Given the description of an element on the screen output the (x, y) to click on. 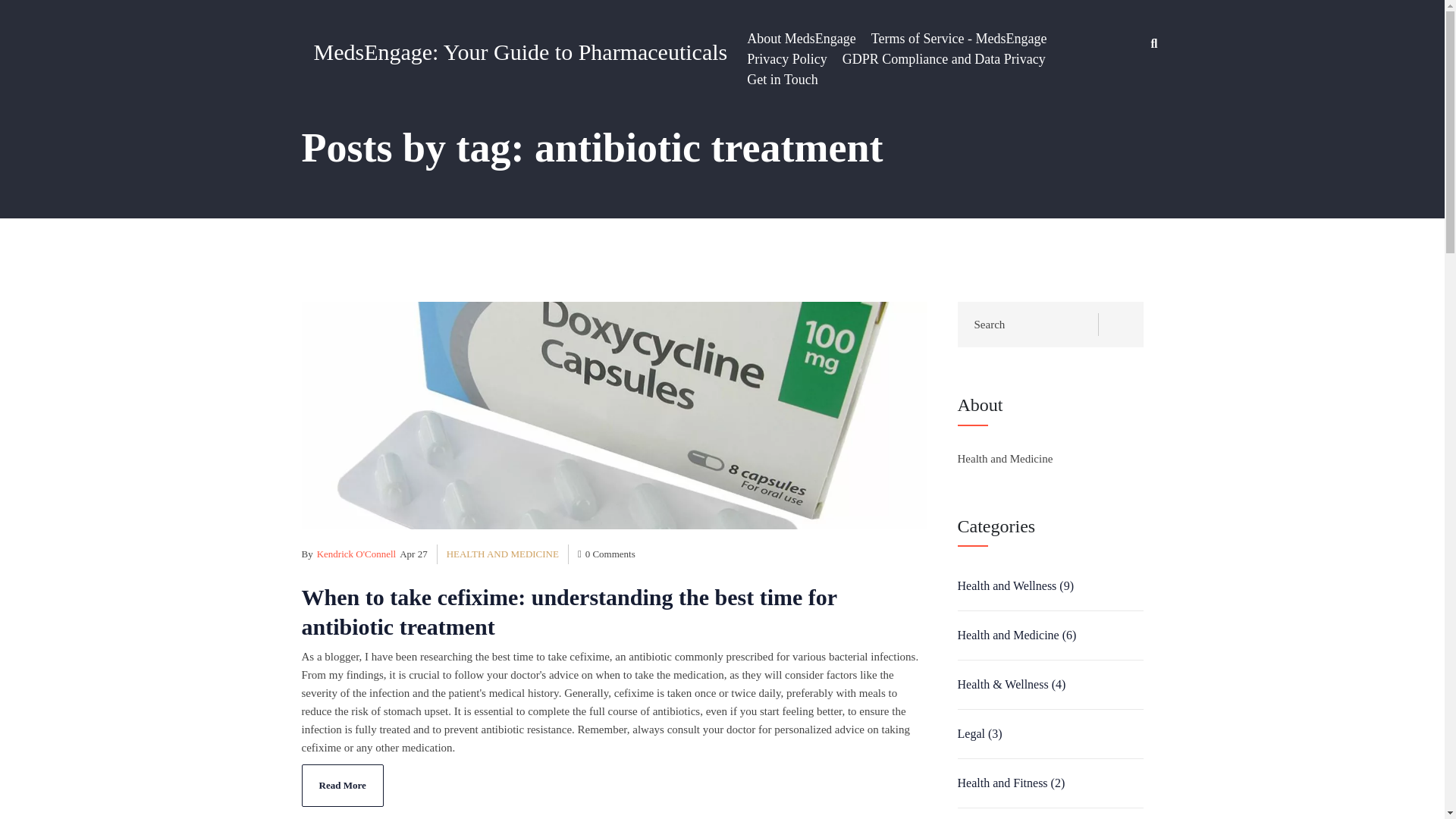
HEALTH AND MEDICINE (507, 554)
GDPR Compliance and Data Privacy (944, 58)
About MedsEngage (801, 38)
Terms of Service - MedsEngage (958, 38)
Privacy Policy (786, 58)
Read More (342, 785)
MedsEngage: Your Guide to Pharmaceuticals (521, 51)
Kendrick O'Connell (356, 554)
Get in Touch (781, 79)
